Given the description of an element on the screen output the (x, y) to click on. 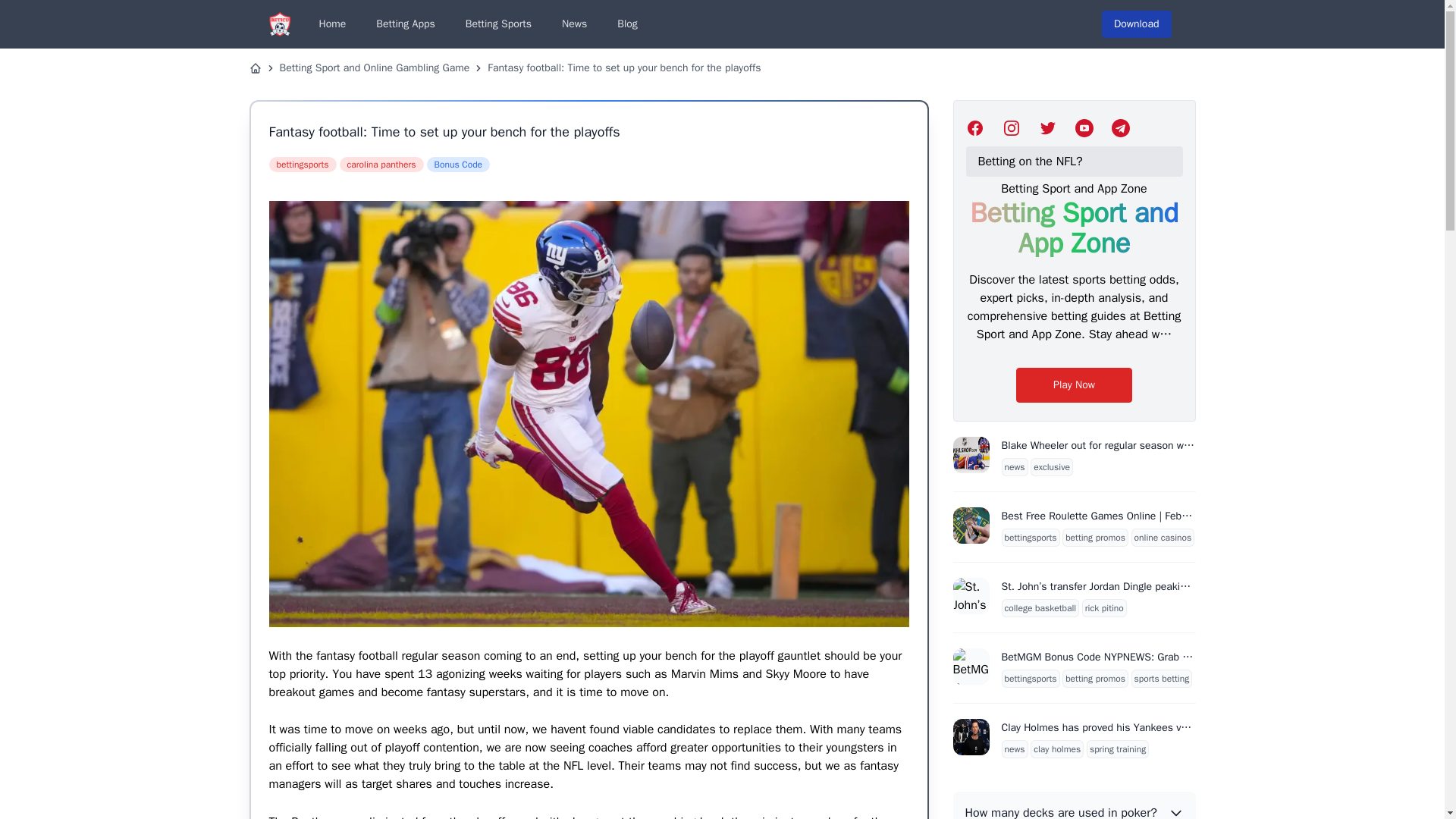
Instagram (1011, 127)
Blog (627, 23)
carolina panthers (381, 163)
carolina (381, 163)
Fantasy football: Time to set up your bench for the playoffs (623, 68)
bettingsports (301, 163)
Betting Sport and Online Gambling Game (373, 68)
Betting Sports (498, 23)
Download (1137, 23)
